Given the description of an element on the screen output the (x, y) to click on. 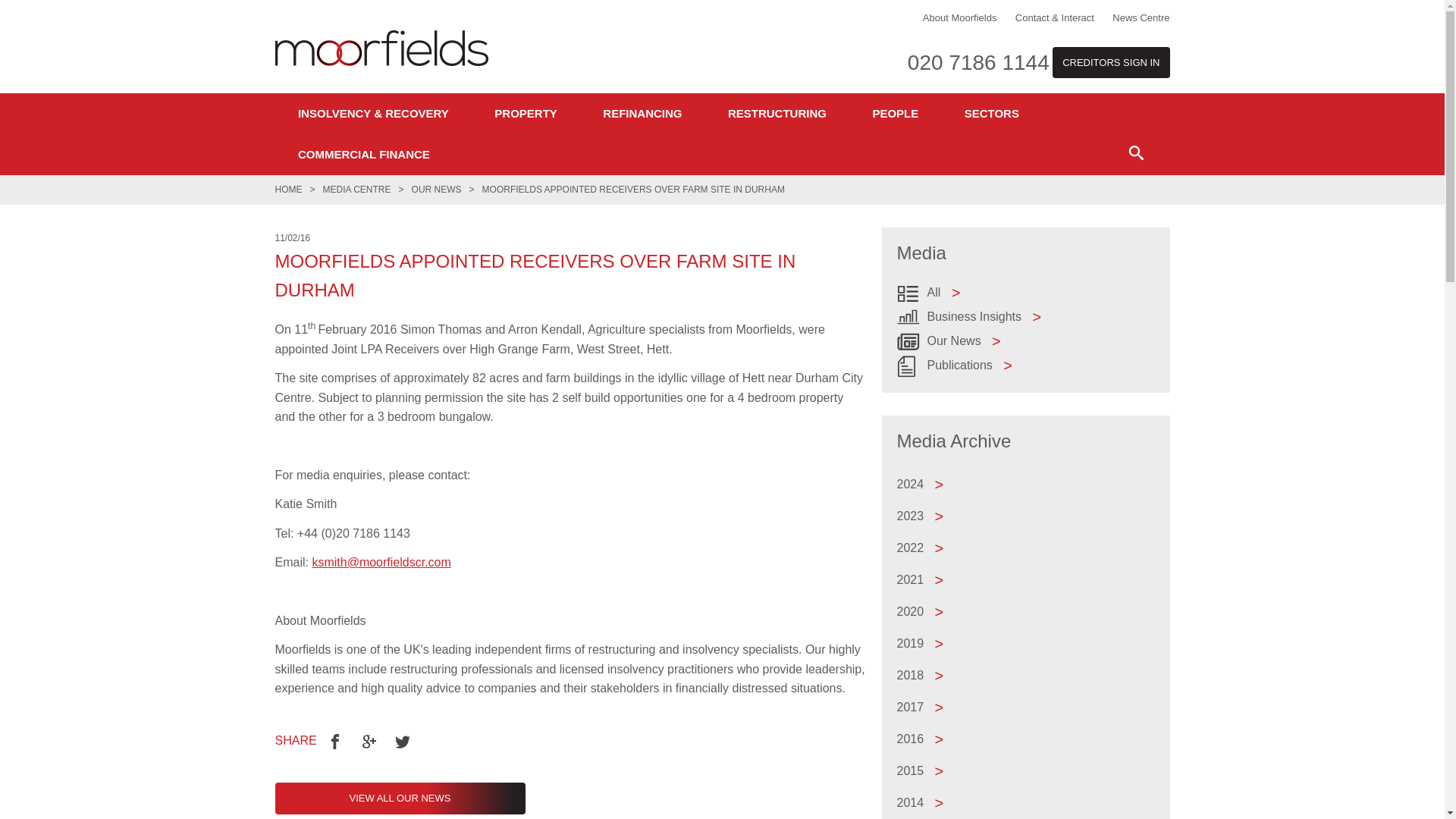
News Centre (1140, 17)
About Moorfields (960, 17)
CREDITORS SIGN IN (1110, 62)
RESTRUCTURING (777, 113)
PEOPLE (895, 113)
SECTORS (991, 113)
PROPERTY (525, 113)
REFINANCING (642, 113)
